Given the description of an element on the screen output the (x, y) to click on. 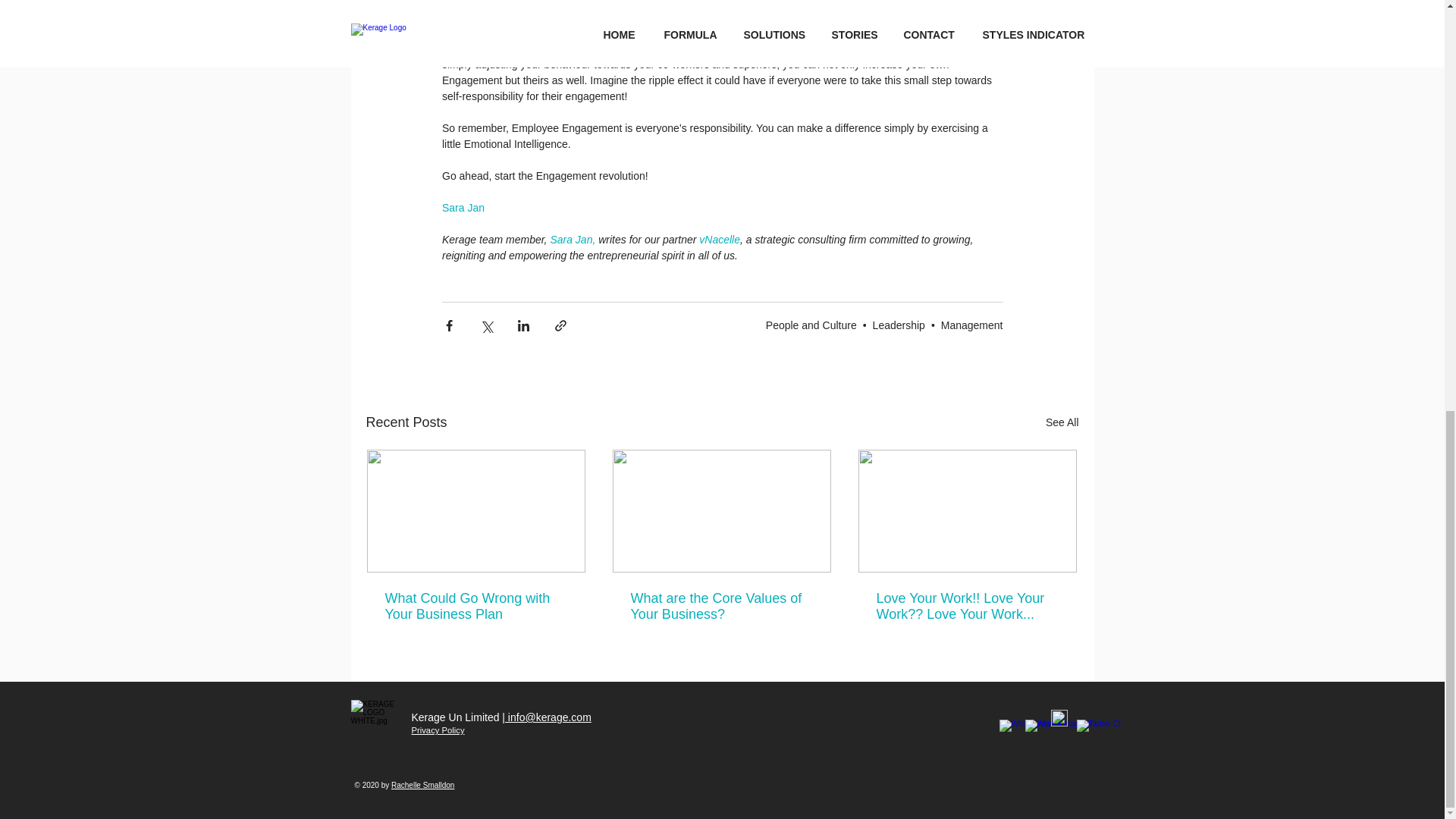
Sara Jan (462, 207)
What are the Core Values of Your Business? (721, 606)
Love Your Work!! Love Your Work?? Love Your Work... (967, 606)
 vNacelle (717, 239)
Management (971, 325)
What Could Go Wrong with Your Business Plan (476, 606)
Sara Jan (571, 239)
See All (1061, 422)
Leadership (898, 325)
People and Culture (811, 325)
